Given the description of an element on the screen output the (x, y) to click on. 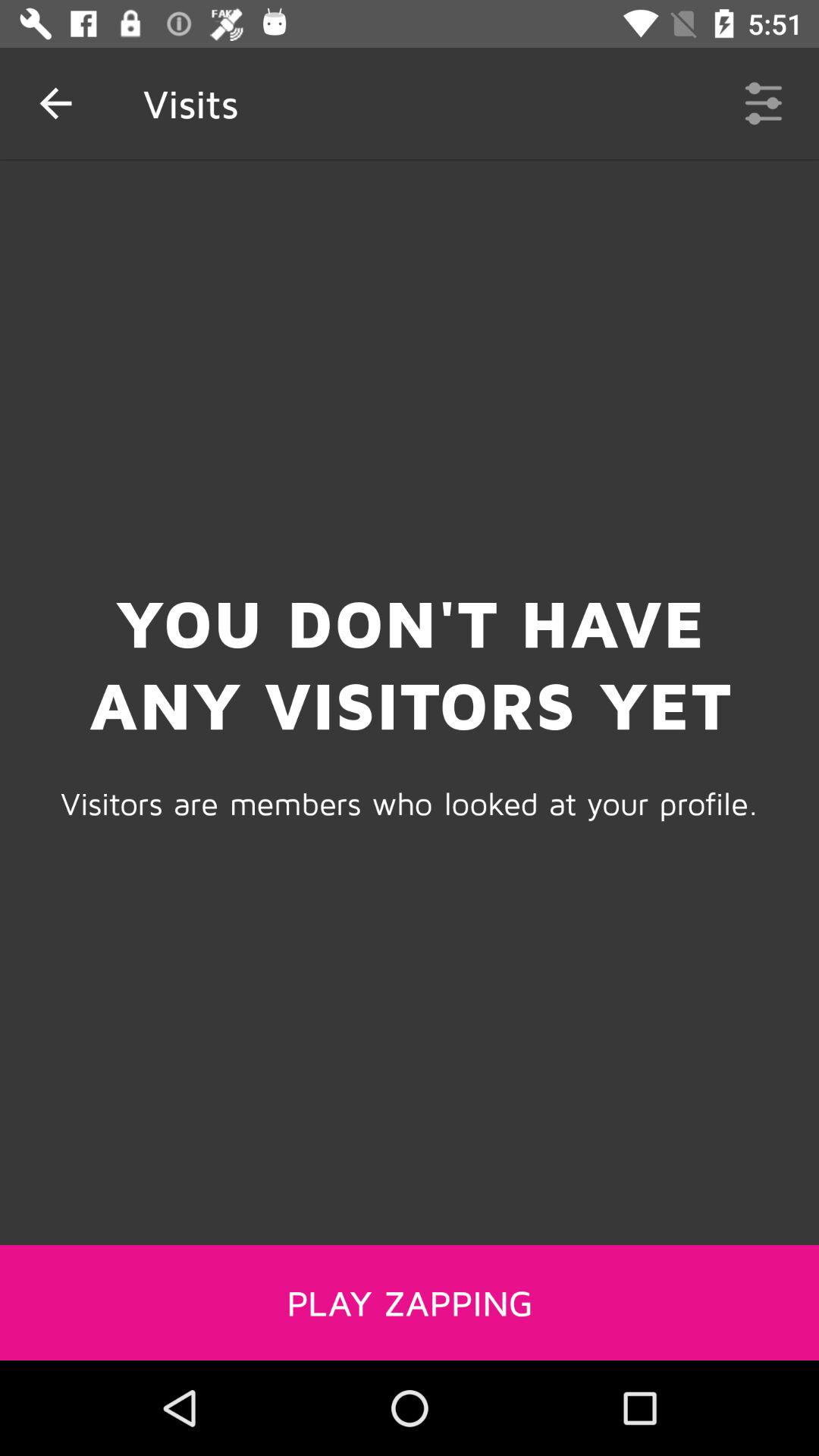
swipe until the play zapping item (409, 1302)
